Given the description of an element on the screen output the (x, y) to click on. 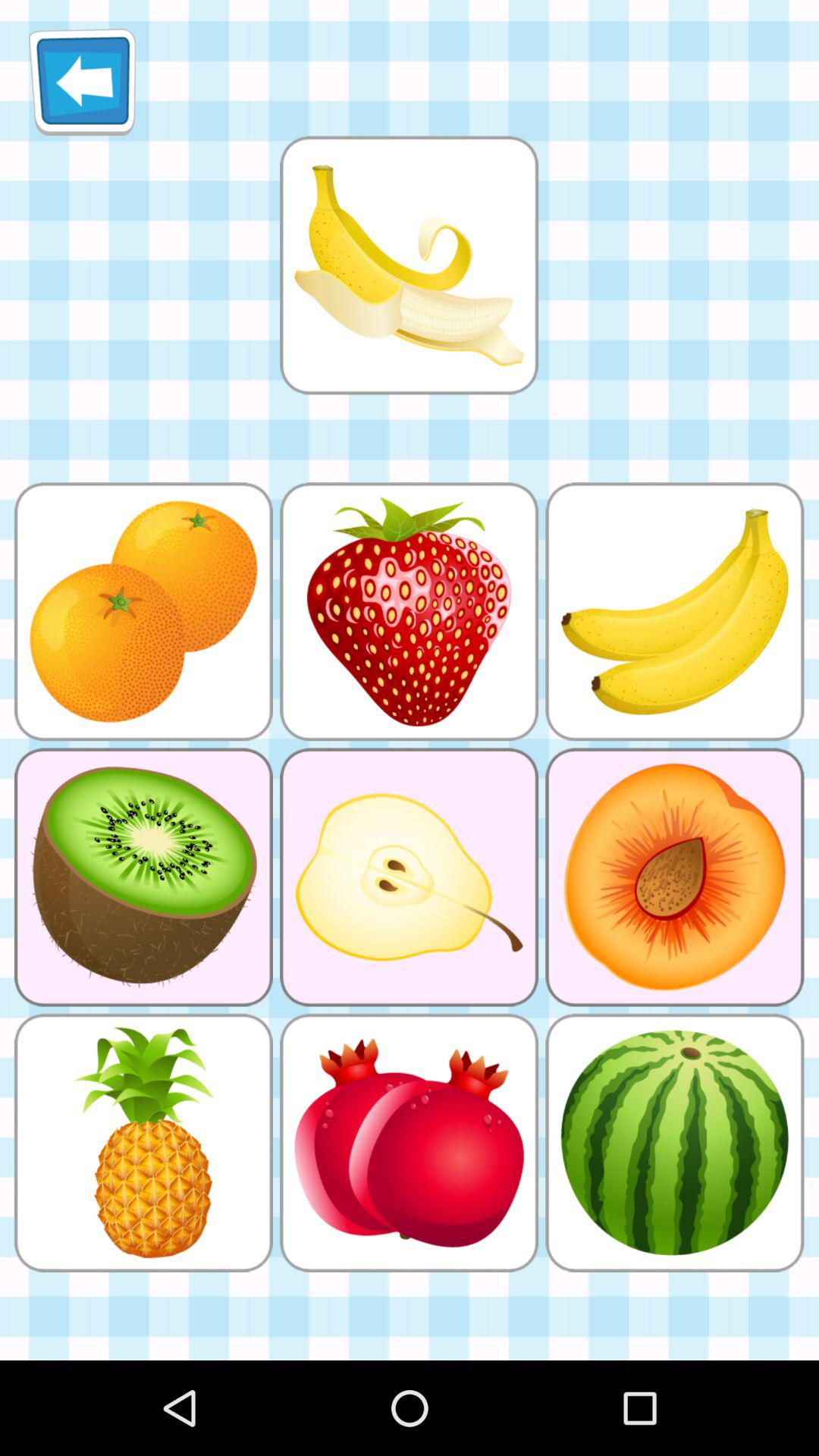
match with the picture below (409, 265)
